Given the description of an element on the screen output the (x, y) to click on. 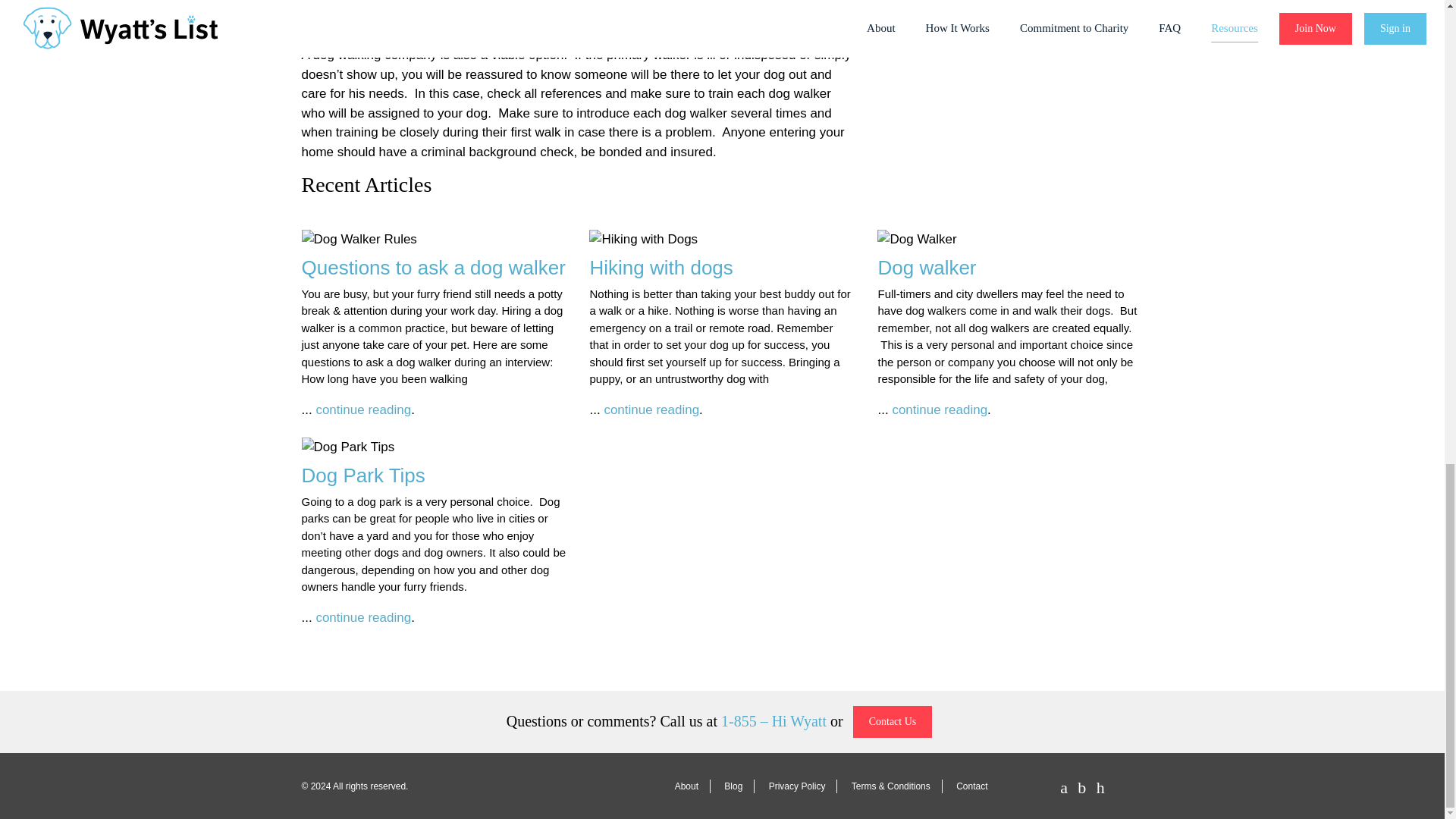
Contact Us (893, 721)
continue reading (651, 409)
Privacy Policy (797, 786)
Privacy Policy (797, 786)
About (686, 786)
Contact (971, 786)
Hiking with dogs (660, 267)
continue reading (939, 409)
Dog walker (926, 267)
Dog Park Tips (363, 475)
